Given the description of an element on the screen output the (x, y) to click on. 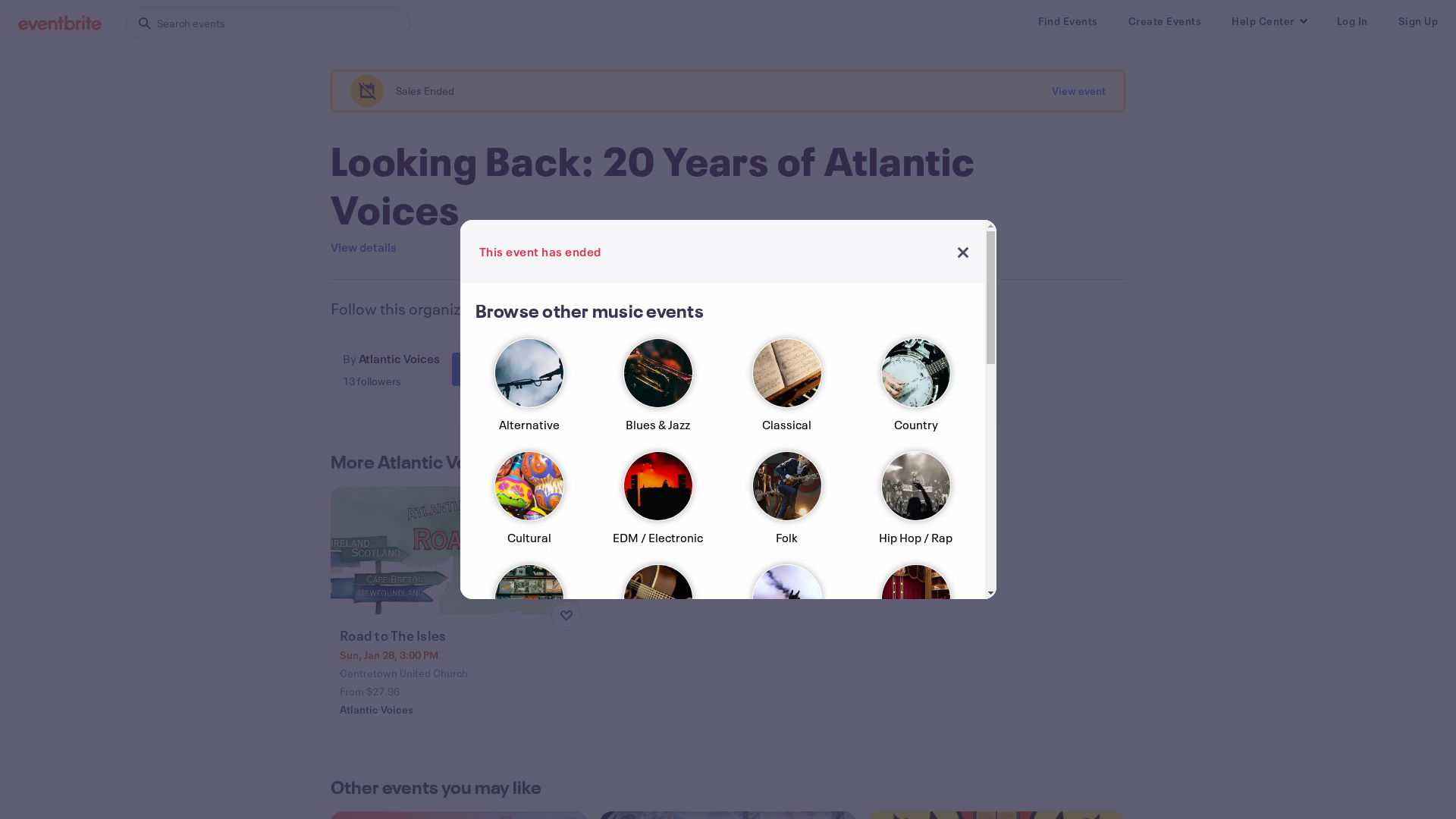
Find Events Element type: text (1068, 21)
Pop Element type: text (528, 730)
R&B Element type: text (657, 730)
Log In Element type: text (1351, 21)
Search events Element type: text (268, 22)
Metal Element type: text (785, 617)
Blues & Jazz Element type: text (657, 391)
Opera Element type: text (914, 617)
View event Element type: text (1078, 90)
EDM / Electronic Element type: text (657, 504)
Classical Element type: text (785, 391)
Religious/Spiritual Element type: text (914, 730)
Follow Element type: text (491, 368)
Sign Up Element type: text (1418, 21)
Latin Element type: text (657, 617)
Create Events Element type: text (1165, 21)
Indie Element type: text (528, 617)
Cultural Element type: text (528, 504)
View details Element type: text (363, 246)
Hip Hop / Rap Element type: text (914, 504)
Alternative Element type: text (528, 391)
Eventbrite Element type: hover (59, 22)
Folk Element type: text (785, 504)
Country Element type: text (914, 391)
Road to The Isles Element type: text (460, 635)
Reggae Element type: text (785, 730)
